Given the description of an element on the screen output the (x, y) to click on. 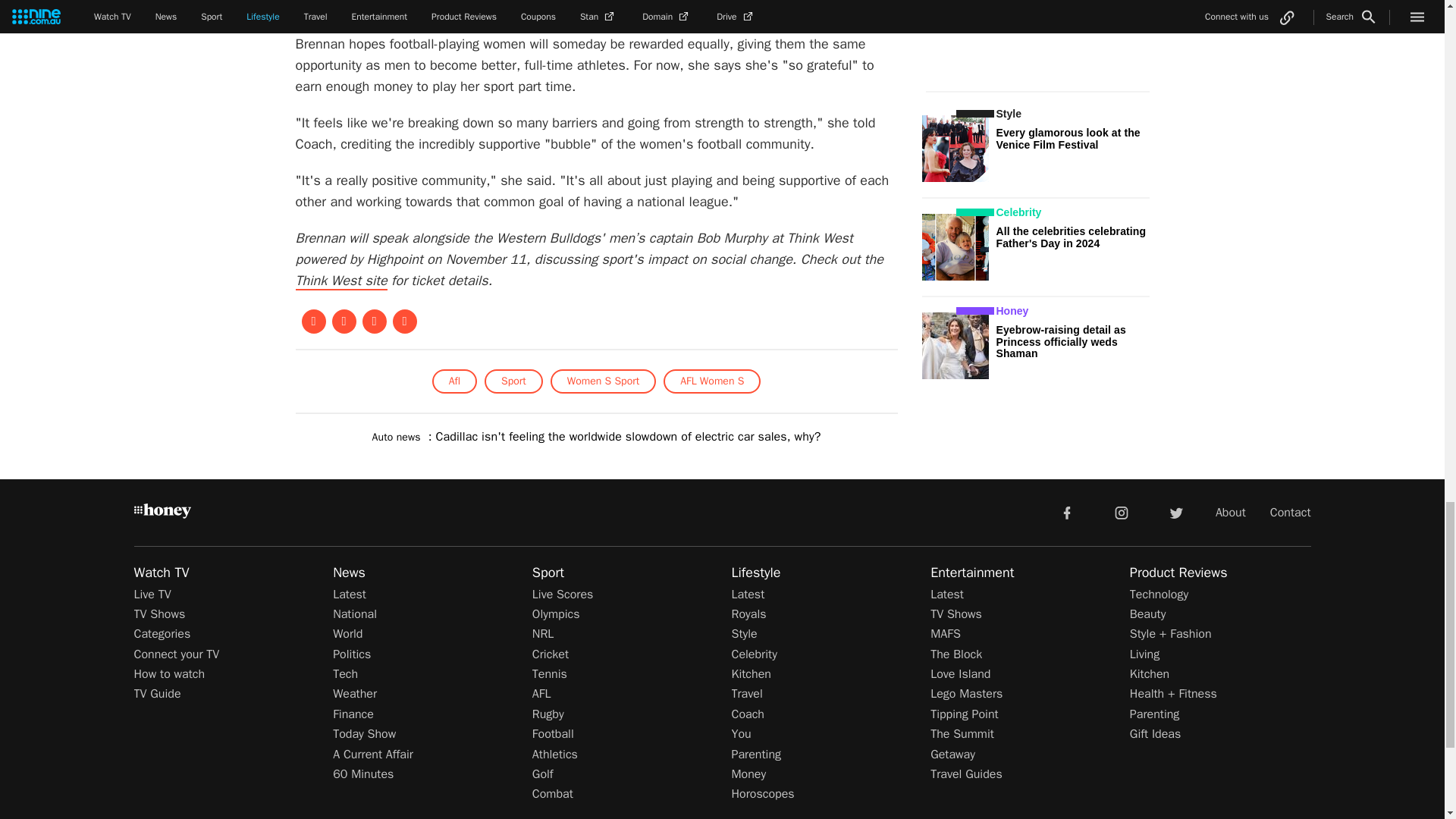
Think West site (341, 280)
twitter (1175, 511)
instagram (1121, 511)
recently addressed in netball (522, 8)
facebook (1066, 511)
